Given the description of an element on the screen output the (x, y) to click on. 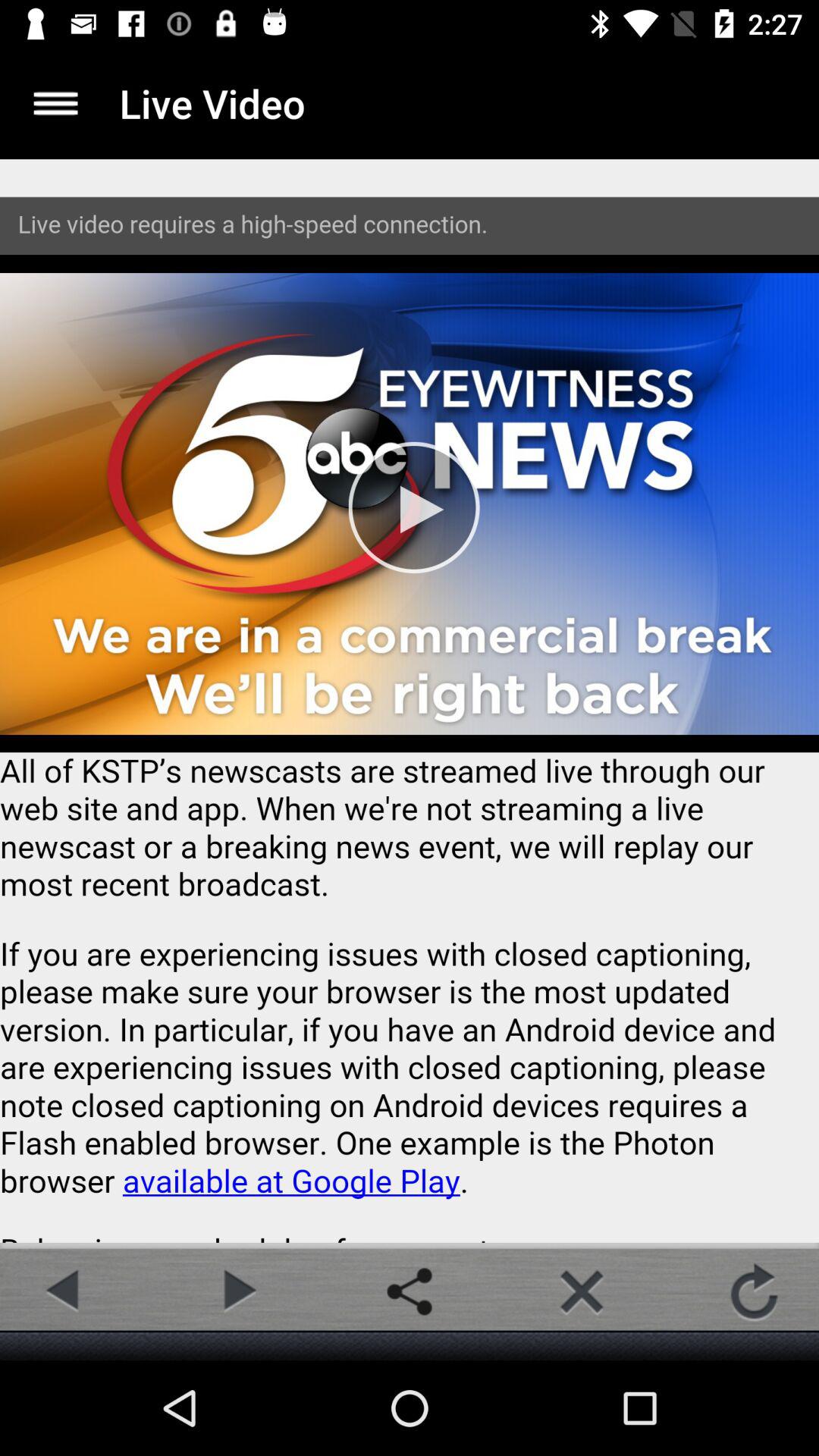
share the article (409, 1291)
